Given the description of an element on the screen output the (x, y) to click on. 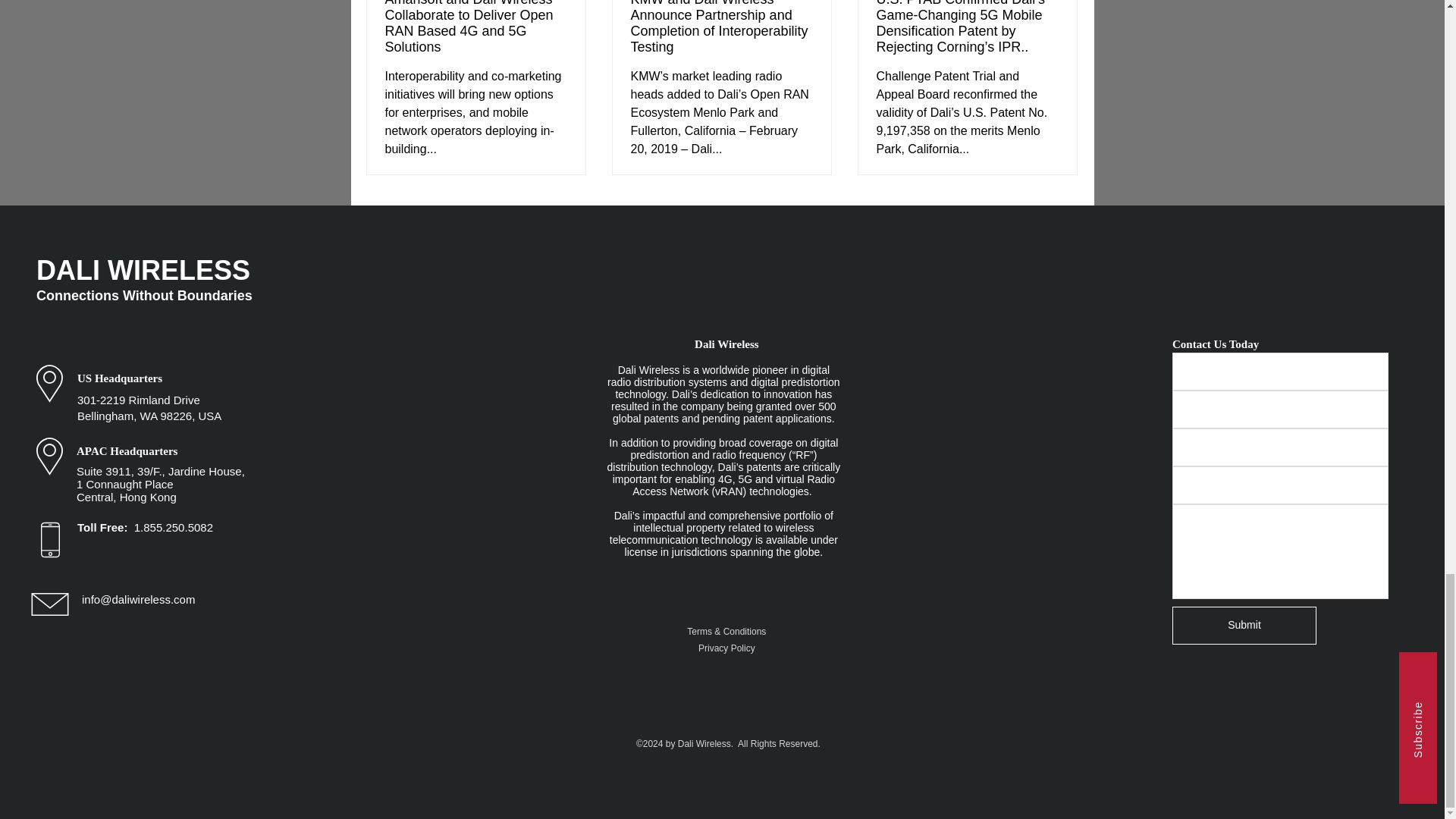
DALI WIRELESS (143, 269)
Submit (1244, 625)
Connections Without Boundaries (143, 295)
Toll Free:  1.855.250.5082 (144, 526)
